Given the description of an element on the screen output the (x, y) to click on. 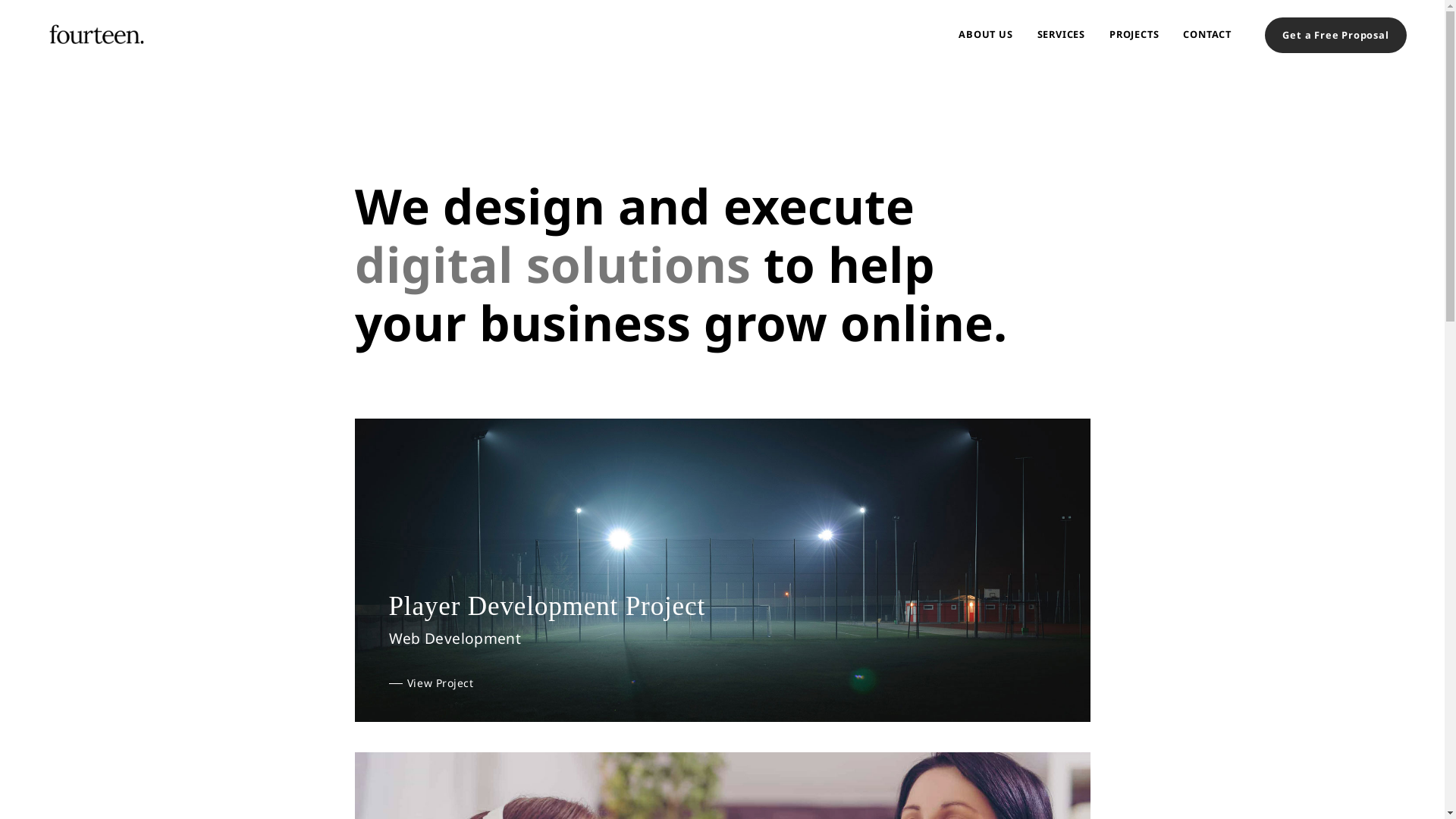
PROJECTS Element type: text (1133, 33)
CONTACT Element type: text (1206, 33)
ABOUT US Element type: text (985, 33)
SERVICES Element type: text (1061, 33)
Get a Free Proposal Element type: text (1335, 35)
